Given the description of an element on the screen output the (x, y) to click on. 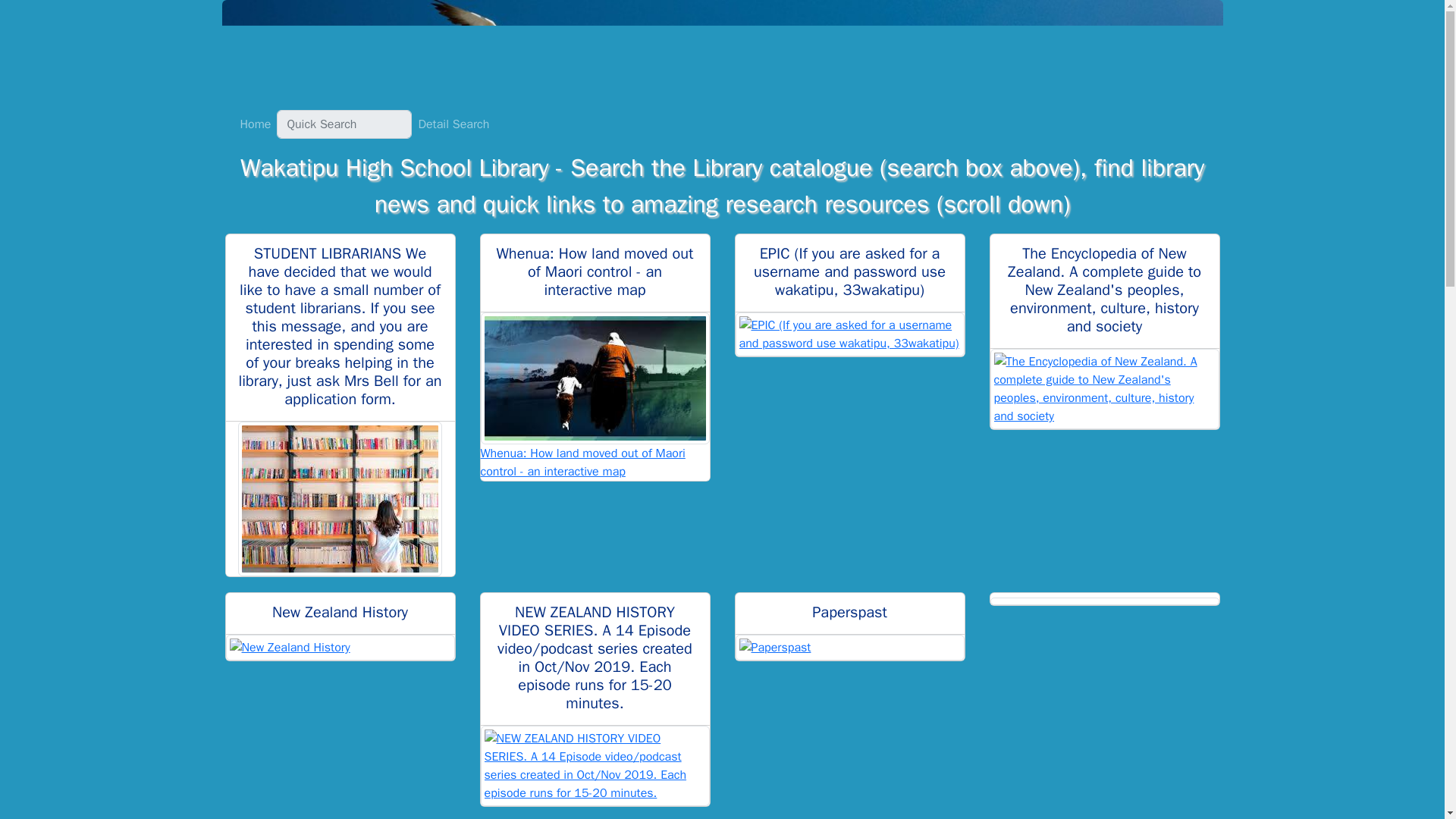
Detail Search (453, 123)
Home (254, 123)
